Given the description of an element on the screen output the (x, y) to click on. 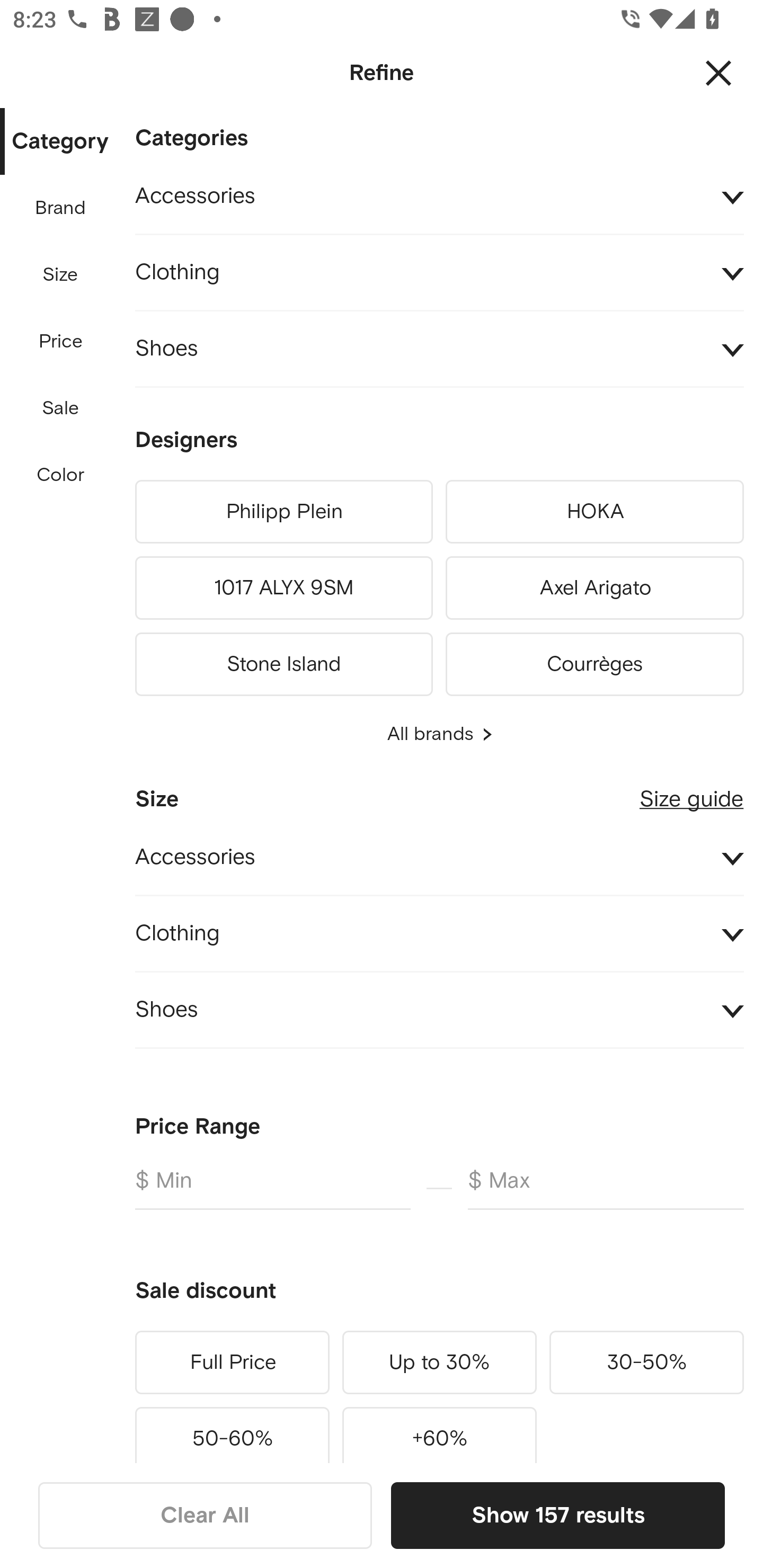
Category (60, 141)
Accessories (439, 196)
Brand (60, 208)
Clothing (439, 272)
Size (60, 274)
Price (60, 342)
Shoes (439, 348)
Sale (60, 408)
Color (60, 475)
Philipp Plein (283, 511)
HOKA (594, 511)
1017 ALYX 9SM (283, 587)
Axel Arigato (594, 587)
Stone Island (283, 660)
Courrèges (594, 660)
All brands (439, 734)
Size guide (691, 792)
Accessories (439, 857)
Clothing (439, 933)
Shoes (439, 1010)
$ Min (272, 1187)
$ Max (605, 1187)
Full Price (232, 1362)
Up to 30% (439, 1362)
30-50% (646, 1362)
50-60% (232, 1431)
+60% (439, 1431)
Clear All (205, 1515)
Show 157 results (557, 1515)
